Given the description of an element on the screen output the (x, y) to click on. 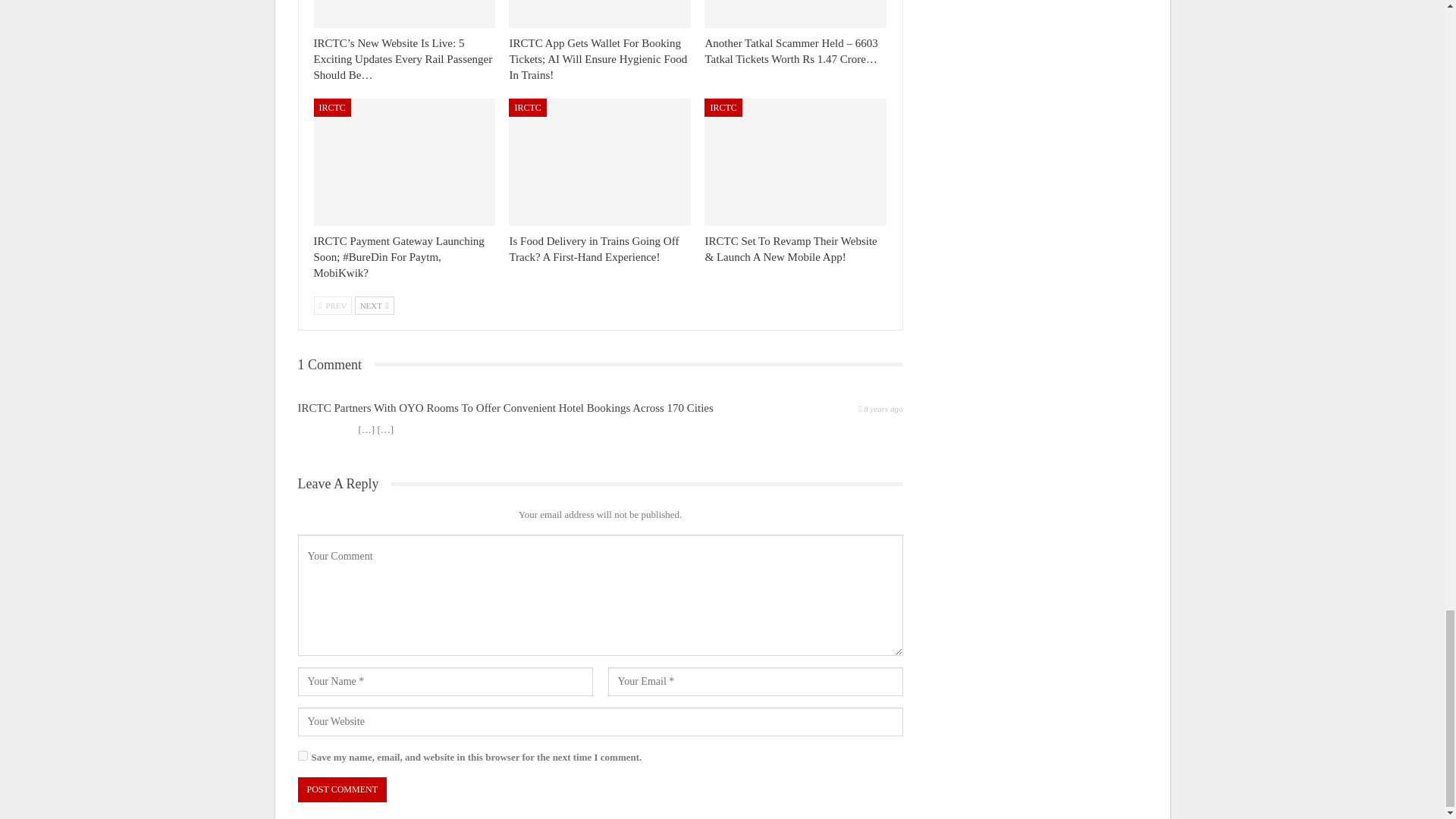
yes (302, 755)
Post Comment (341, 789)
